Given the description of an element on the screen output the (x, y) to click on. 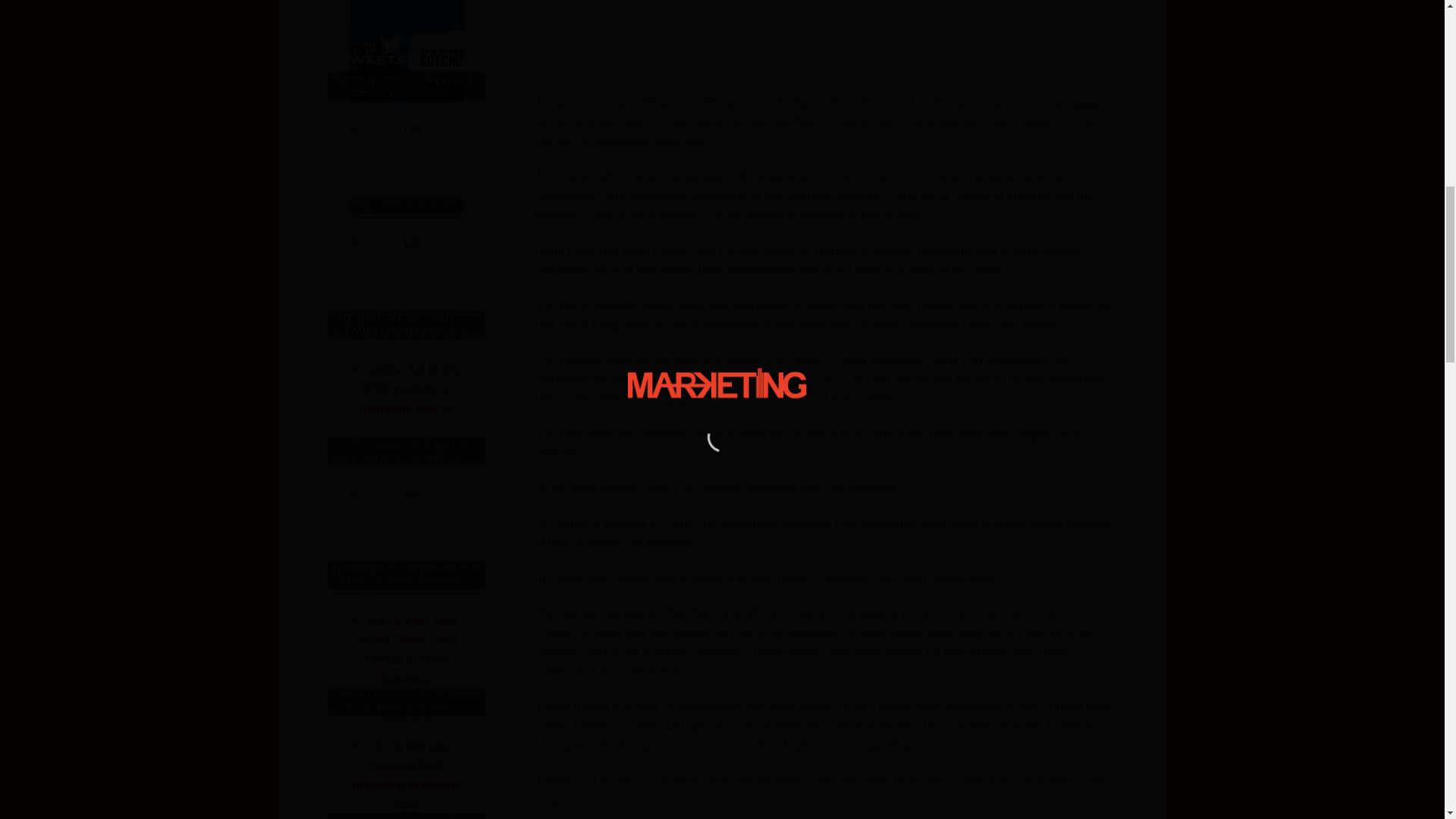
Hop, Skip, and Jump! (406, 178)
